Given the description of an element on the screen output the (x, y) to click on. 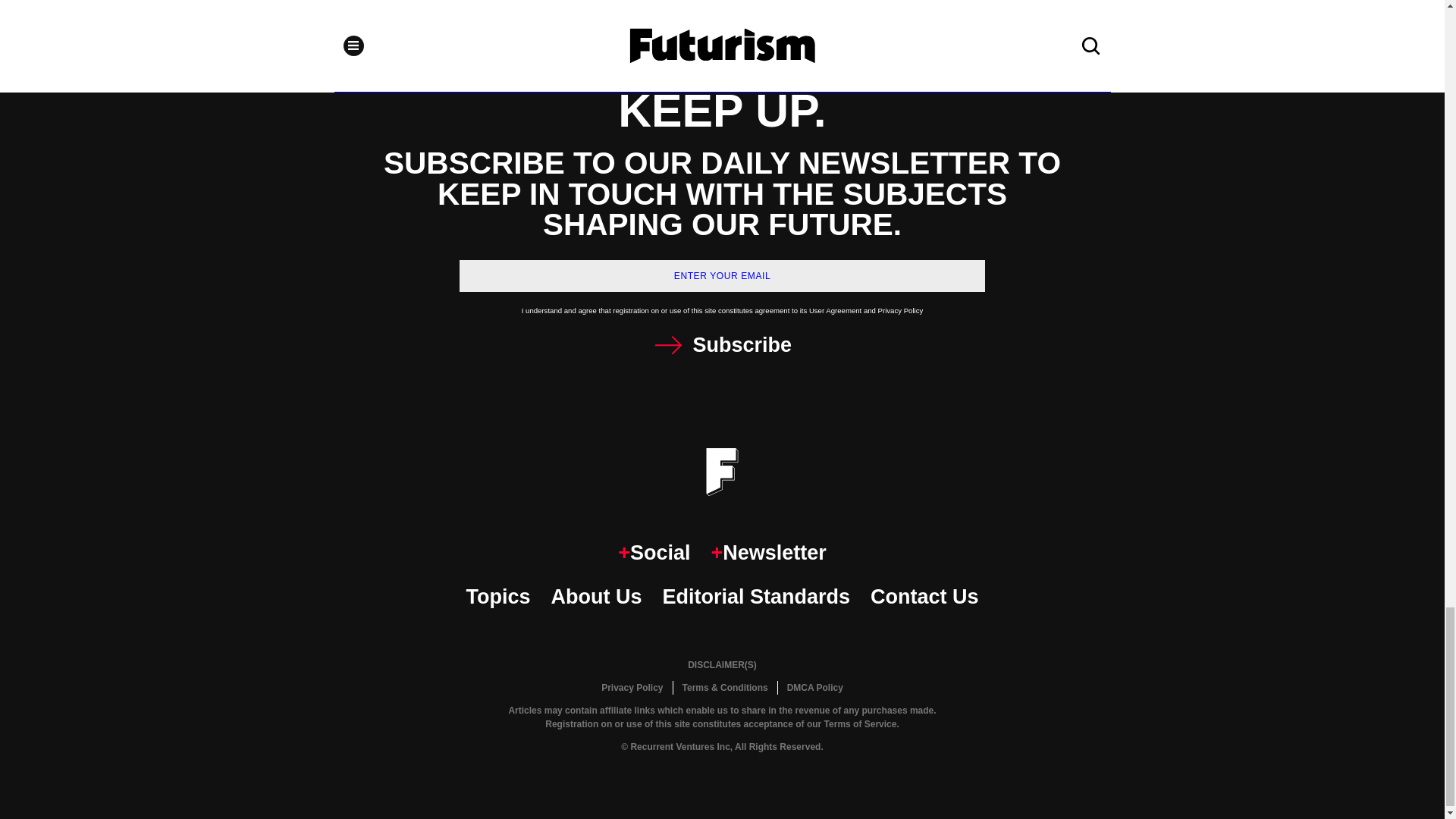
Contact Us (924, 596)
Editorial Standards (756, 596)
Privacy Policy (631, 687)
Subscribe (722, 345)
About Us (596, 596)
Topics (497, 596)
